Given the description of an element on the screen output the (x, y) to click on. 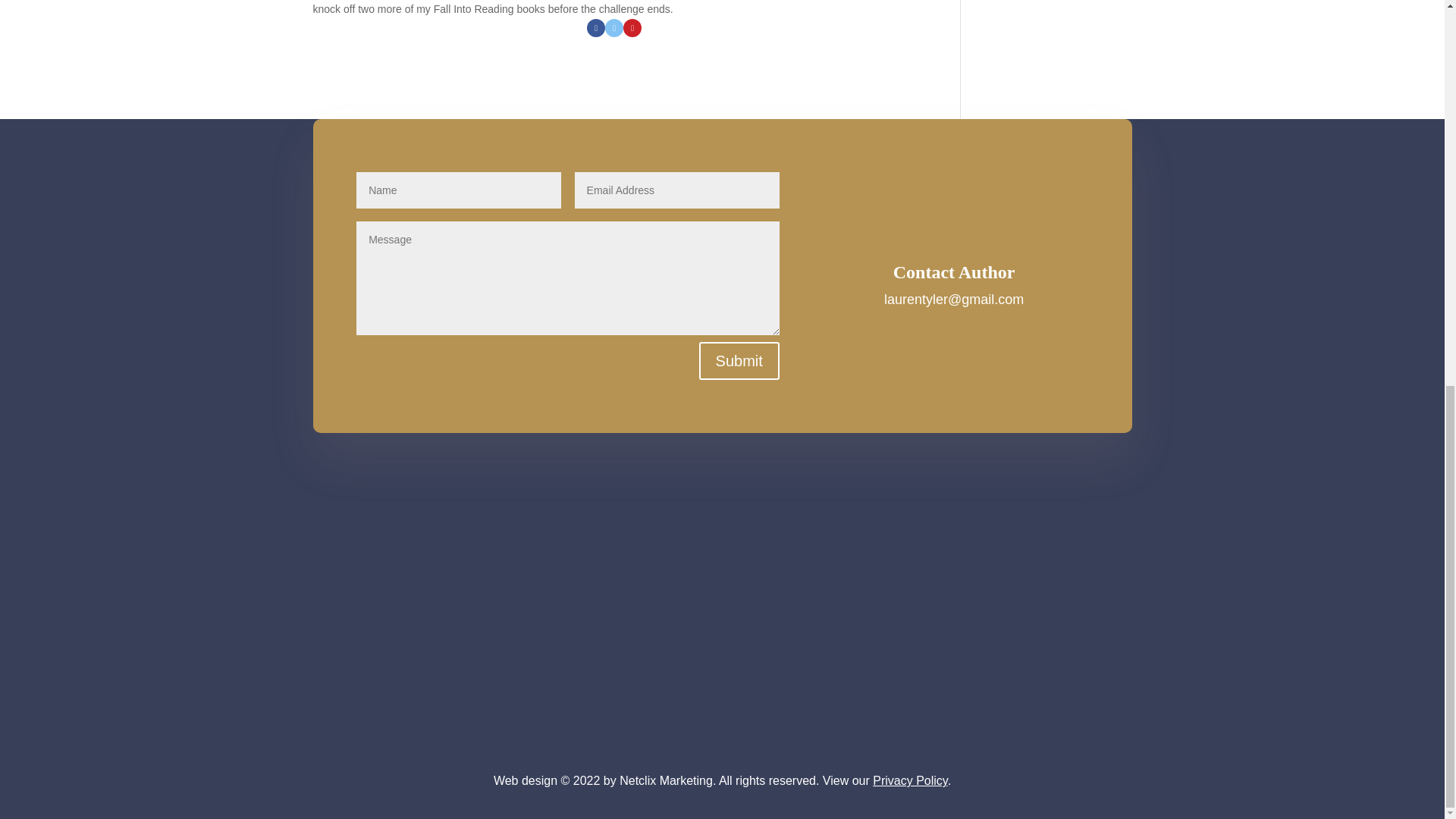
Privacy Policy (909, 780)
Submit (738, 361)
